Given the description of an element on the screen output the (x, y) to click on. 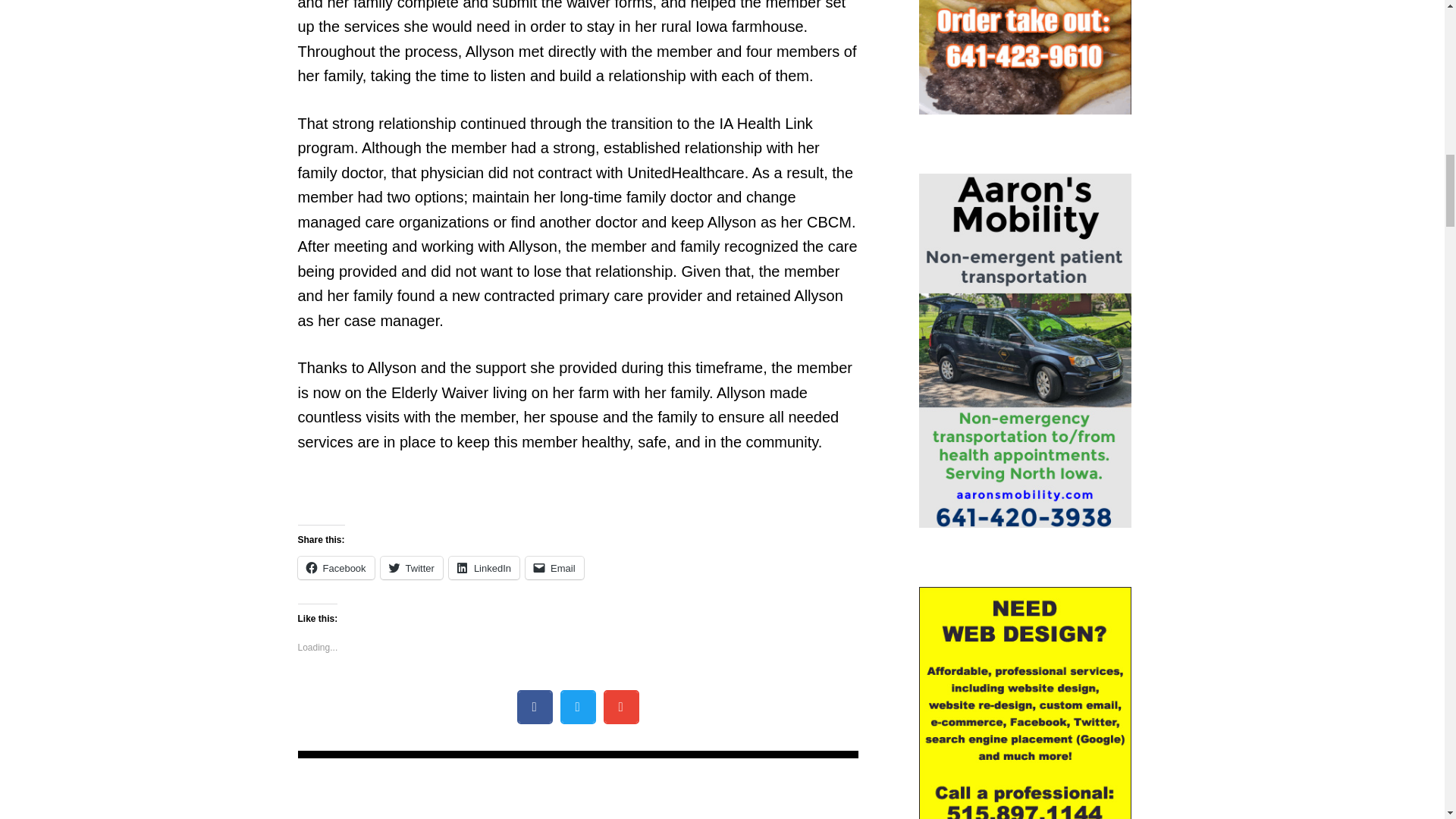
LinkedIn (483, 567)
Click to email a link to a friend (554, 567)
Click to share on LinkedIn (483, 567)
Click to share on Twitter (411, 567)
Click to share on Facebook (335, 567)
Facebook (335, 567)
Twitter (411, 567)
Email (554, 567)
